Given the description of an element on the screen output the (x, y) to click on. 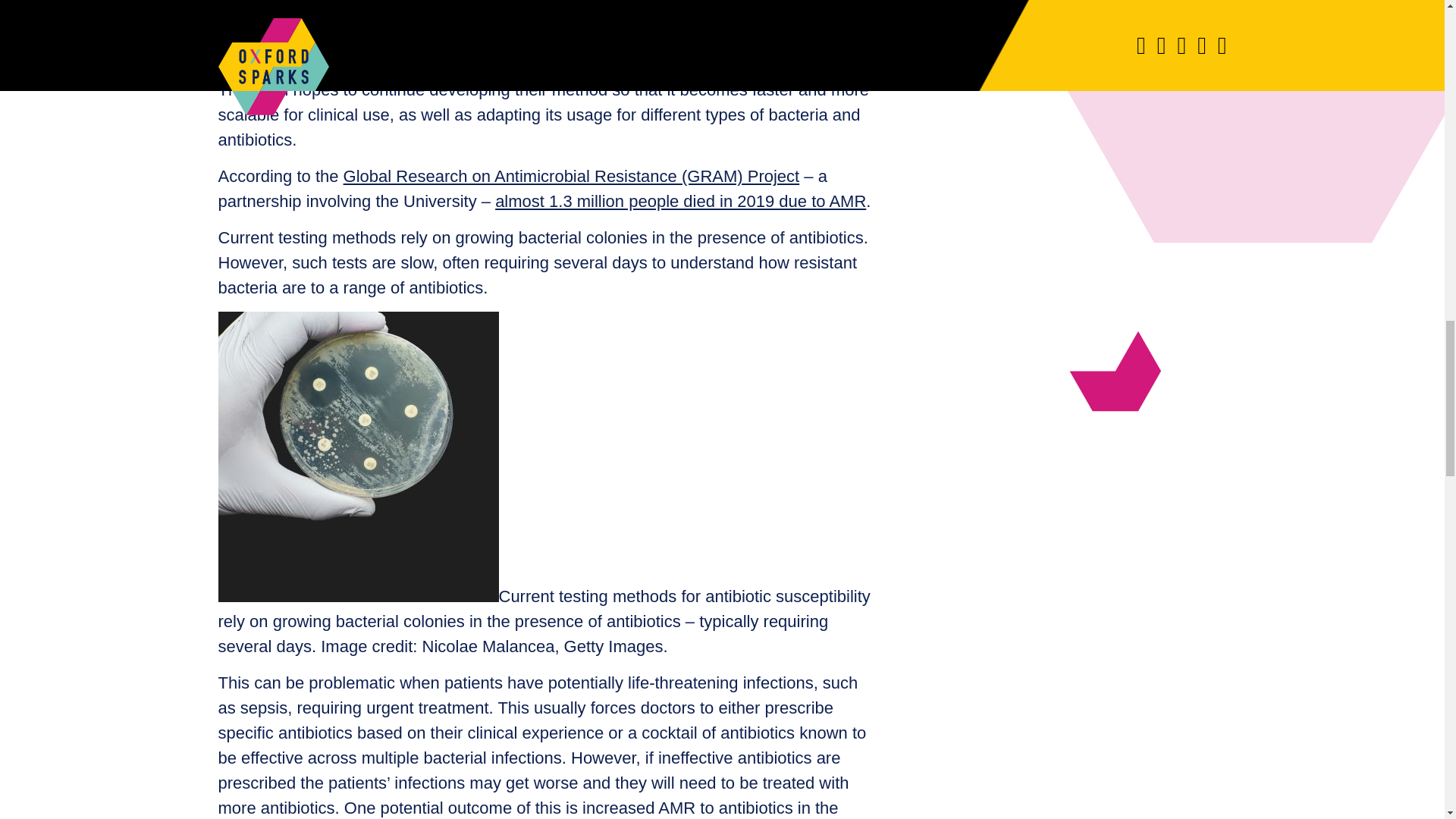
almost 1.3 million people died in 2019 due to AMR (680, 200)
